Given the description of an element on the screen output the (x, y) to click on. 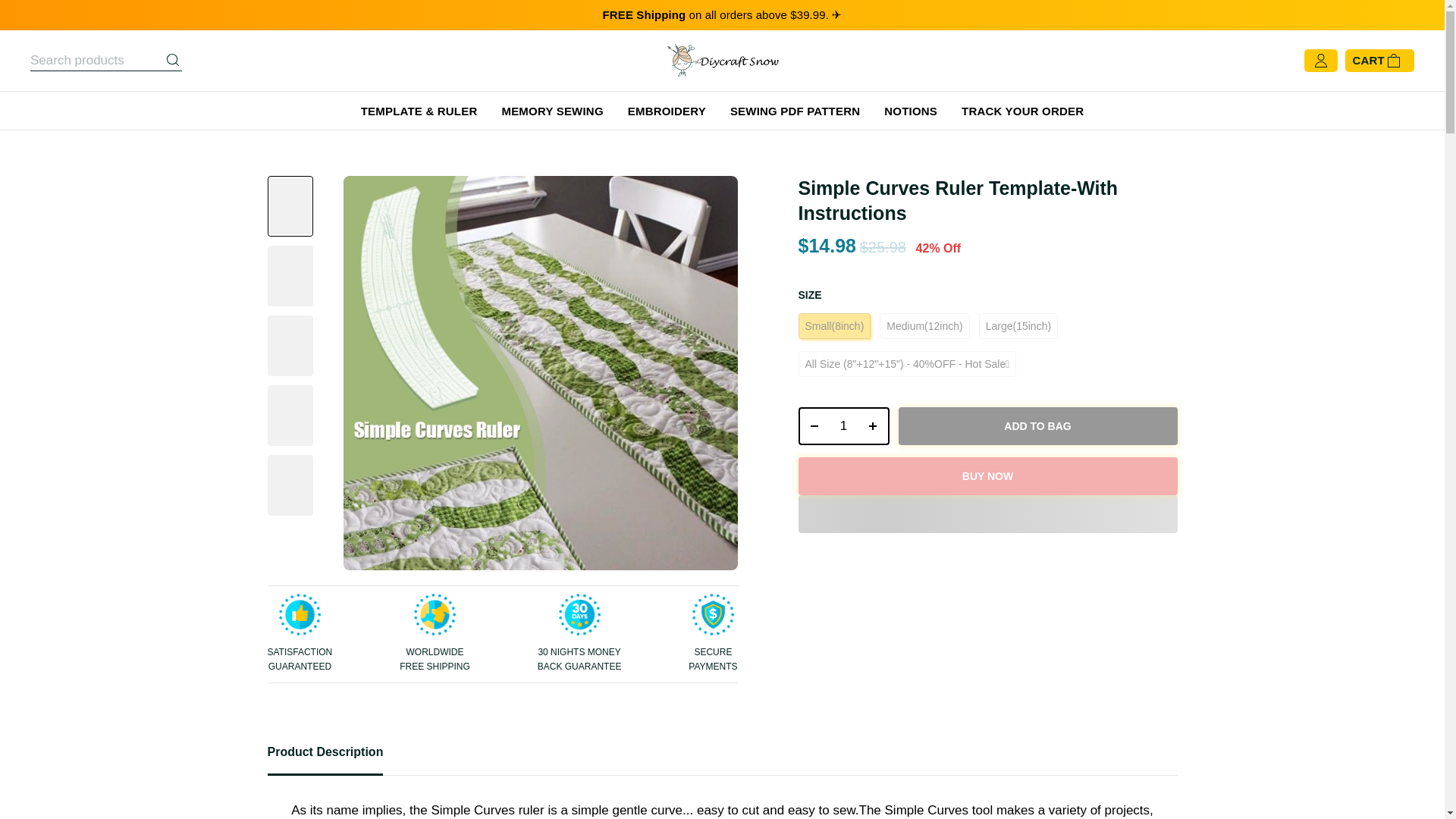
NOTIONS (910, 110)
MEMORY SEWING (551, 110)
Product Description (721, 759)
TRACK YOUR ORDER (1021, 110)
SEWING PDF PATTERN (795, 110)
EMBROIDERY (666, 110)
CART (1379, 60)
